Given the description of an element on the screen output the (x, y) to click on. 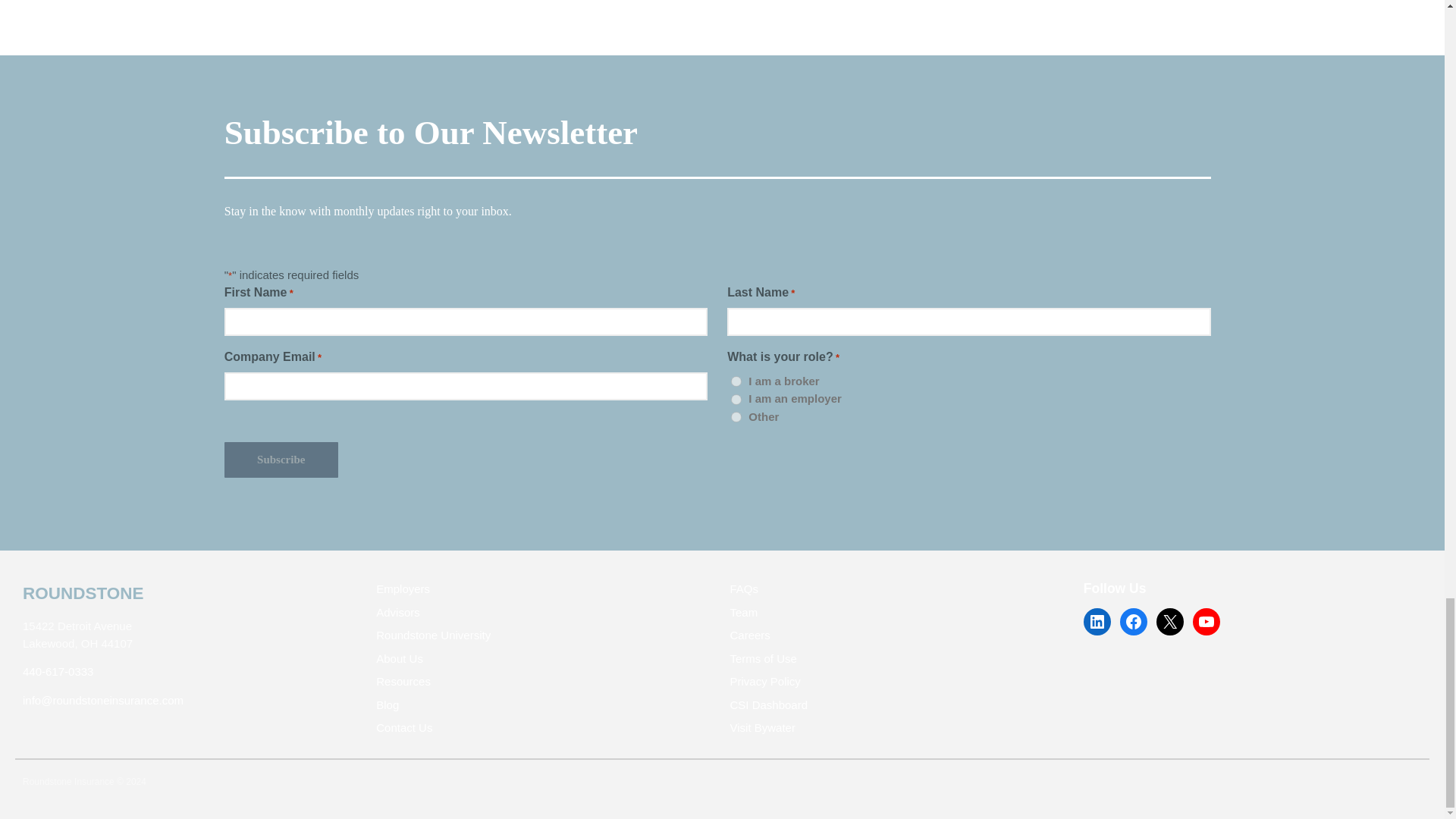
Subscribe (280, 459)
End User Customer (735, 398)
Other Industry Partner (735, 416)
Broker (735, 380)
